Given the description of an element on the screen output the (x, y) to click on. 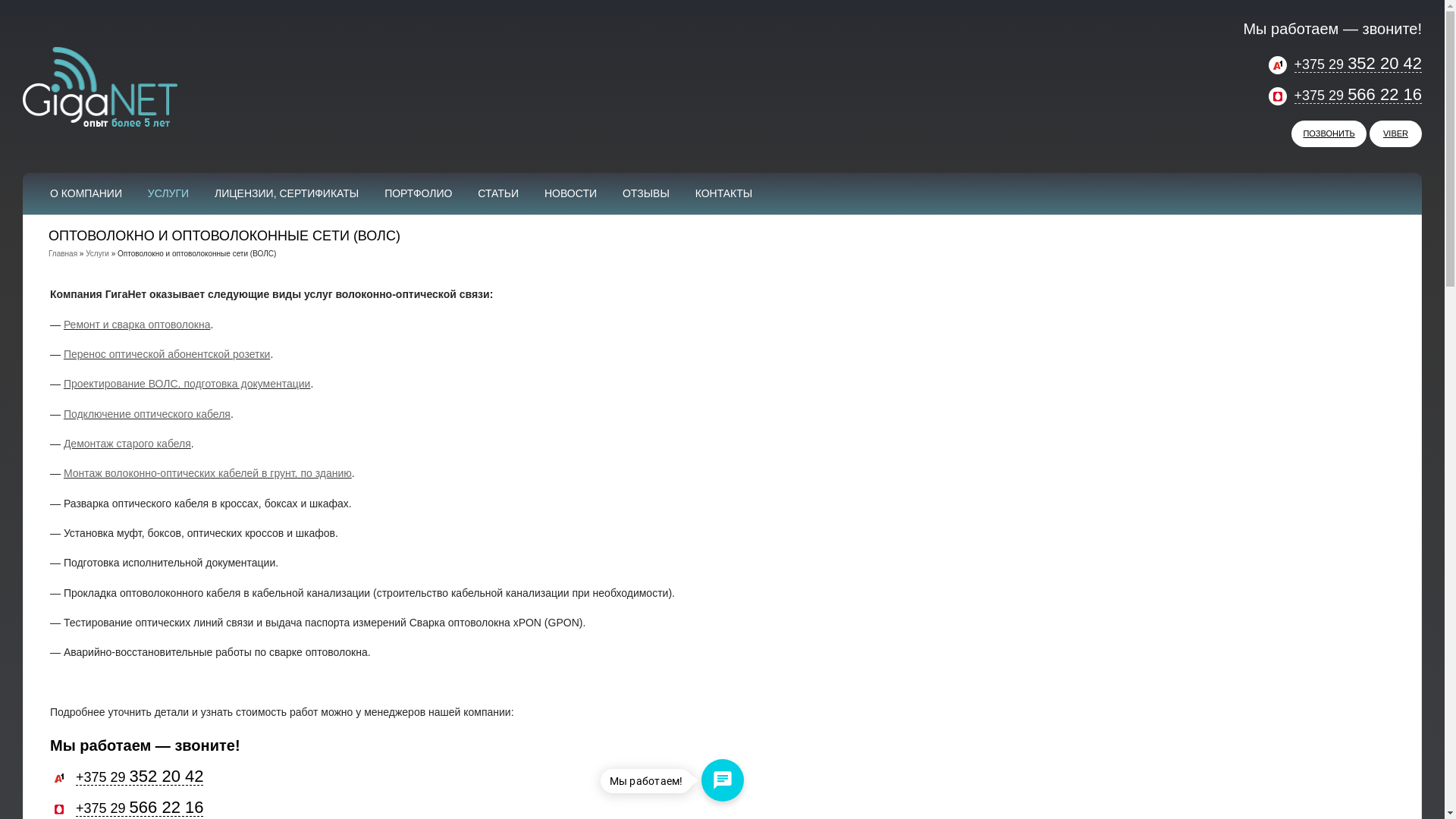
VIBER Element type: text (1395, 133)
+375 29 566 22 16 Element type: text (1344, 95)
+375 29 352 20 42 Element type: text (1344, 64)
+375 29 566 22 16 Element type: text (126, 807)
+375 29 352 20 42 Element type: text (126, 776)
